Given the description of an element on the screen output the (x, y) to click on. 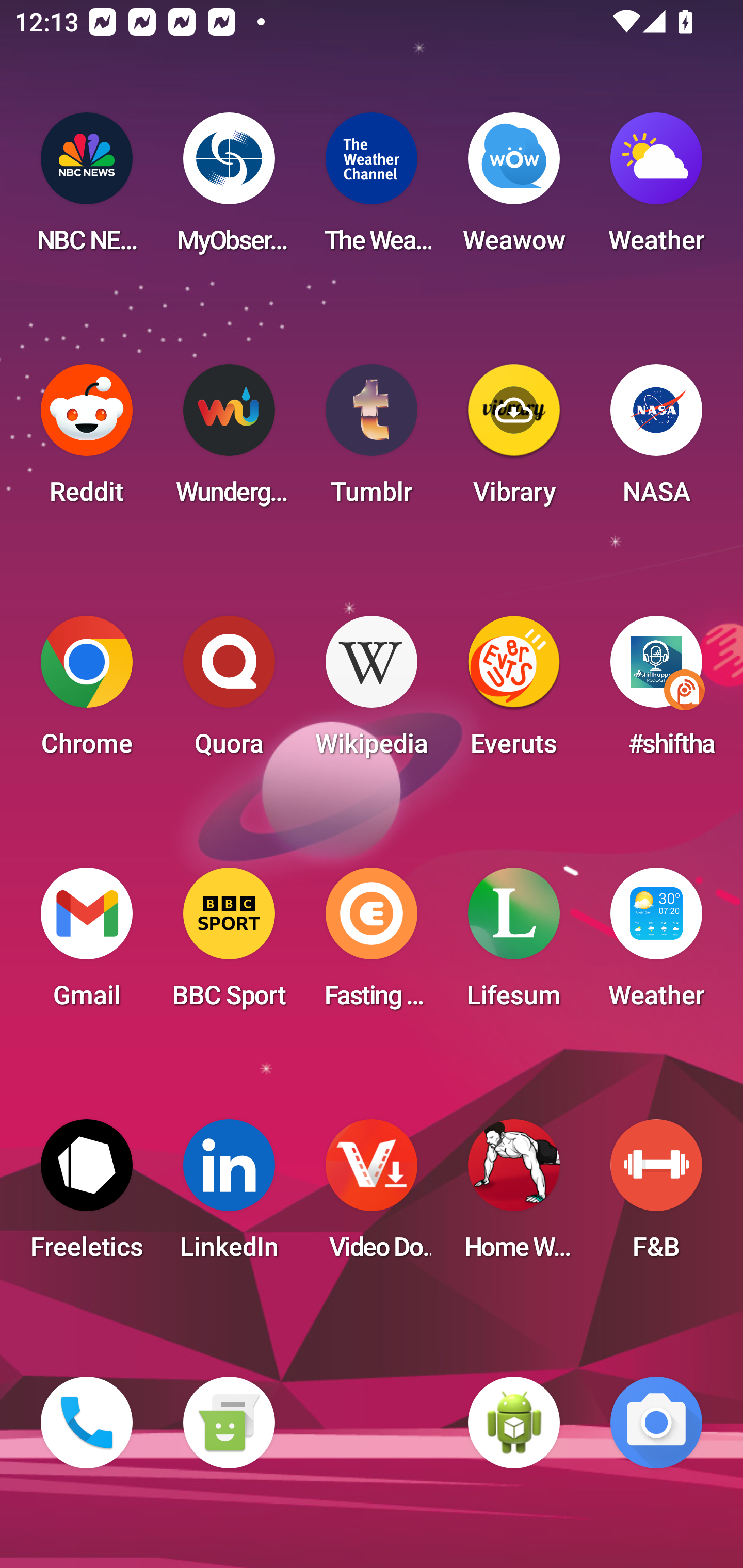
NBC NEWS (86, 188)
MyObservatory (228, 188)
The Weather Channel (371, 188)
Weawow (513, 188)
Weather (656, 188)
Reddit (86, 440)
Wunderground (228, 440)
Tumblr (371, 440)
Vibrary (513, 440)
NASA (656, 440)
Chrome (86, 692)
Quora (228, 692)
Wikipedia (371, 692)
Everuts (513, 692)
#shifthappens in the Digital Workplace Podcast (656, 692)
Gmail (86, 943)
BBC Sport (228, 943)
Fasting Coach (371, 943)
Lifesum (513, 943)
Weather (656, 943)
Freeletics (86, 1195)
LinkedIn (228, 1195)
Video Downloader & Ace Player (371, 1195)
Home Workout (513, 1195)
F&B (656, 1195)
Phone (86, 1422)
Messaging (228, 1422)
WebView Browser Tester (513, 1422)
Camera (656, 1422)
